Given the description of an element on the screen output the (x, y) to click on. 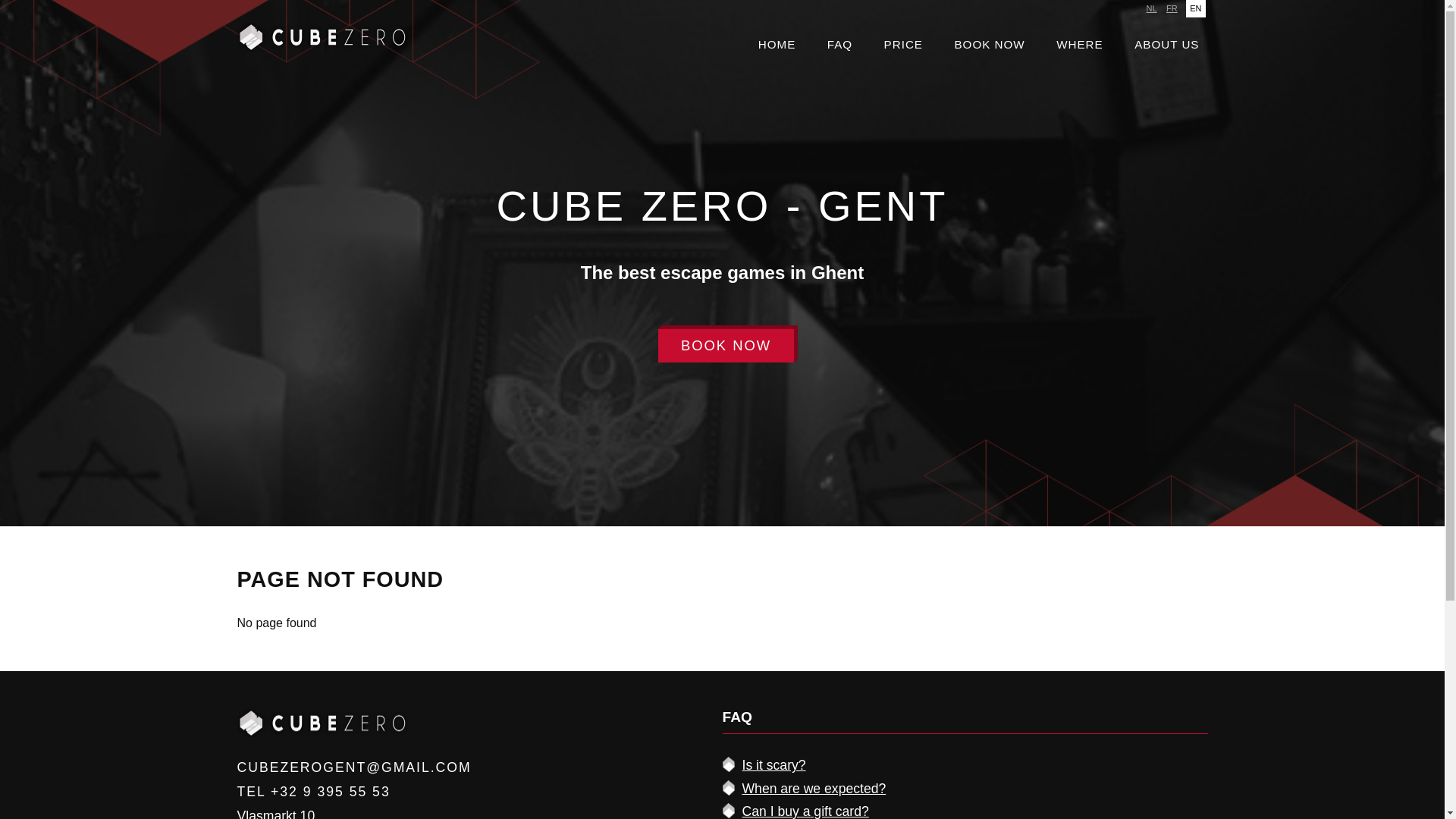
FR Element type: text (1171, 8)
WHERE Element type: text (1079, 44)
BOOK NOW Element type: text (725, 345)
NL Element type: text (1151, 8)
When are we expected? Element type: text (813, 788)
EN Element type: text (1195, 8)
HOME Element type: text (776, 44)
Is it scary? Element type: text (773, 764)
FAQ Element type: text (839, 44)
CUBE ZERO - GENT Element type: text (721, 205)
CUBEZEROGENT@GMAIL.COM Element type: text (353, 767)
ABOUT US Element type: text (1166, 44)
TEL +32 9 395 55 53 Element type: text (312, 791)
PRICE Element type: text (903, 44)
BOOK NOW Element type: text (988, 44)
